Given the description of an element on the screen output the (x, y) to click on. 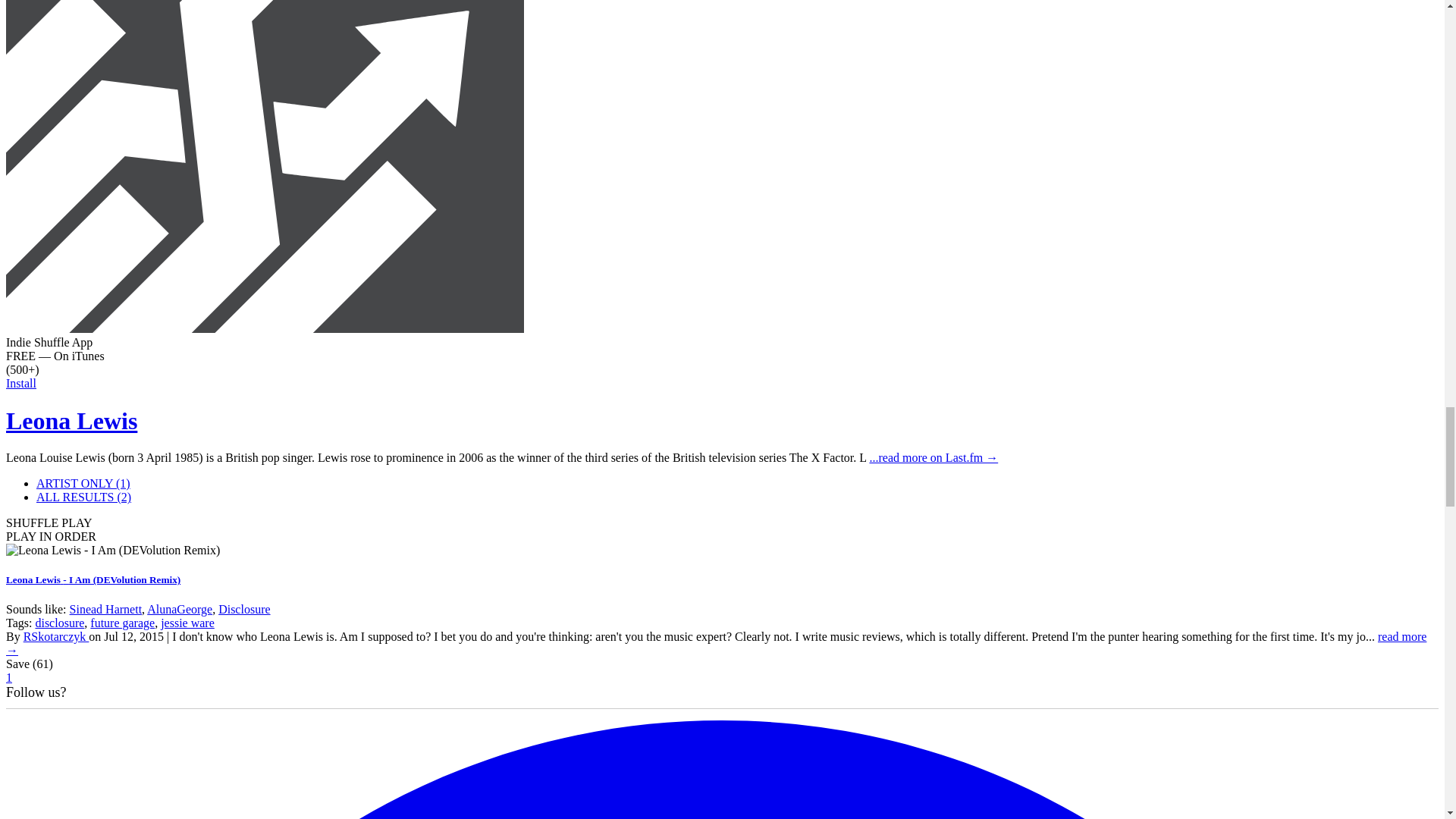
Sinead Harnett (105, 608)
Future garage Songs (122, 622)
Jessie ware Songs (187, 622)
Disclosure Songs (59, 622)
Install iPhone App (264, 328)
